Given the description of an element on the screen output the (x, y) to click on. 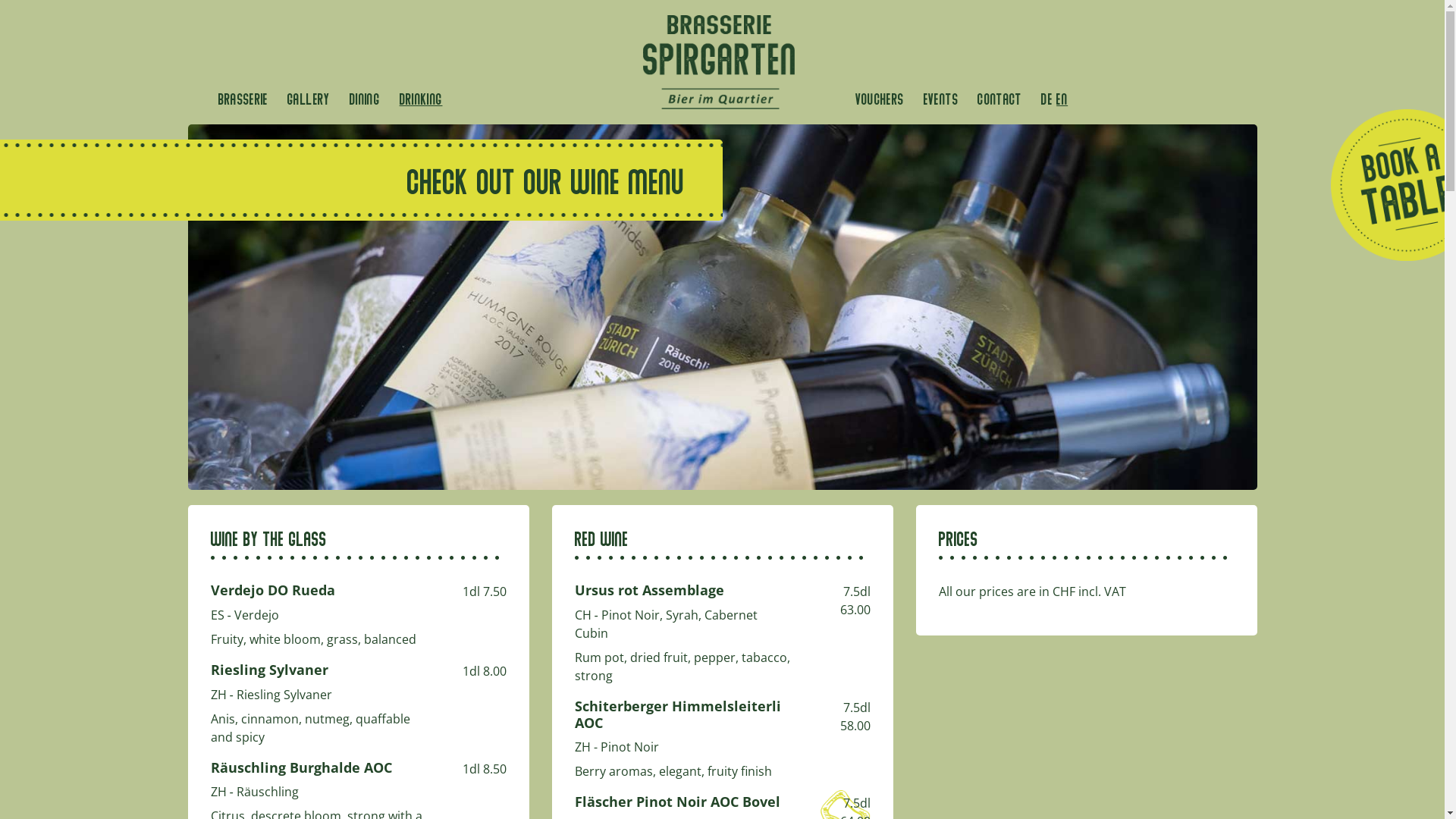
BRASSERIE Element type: text (243, 98)
DRINKING Element type: text (420, 98)
VOUCHERS Element type: text (879, 98)
GALLERY Element type: text (308, 98)
EVENTS Element type: text (940, 98)
DINING Element type: text (364, 98)
DE Element type: text (1046, 98)
CONTACT Element type: text (999, 98)
